Given the description of an element on the screen output the (x, y) to click on. 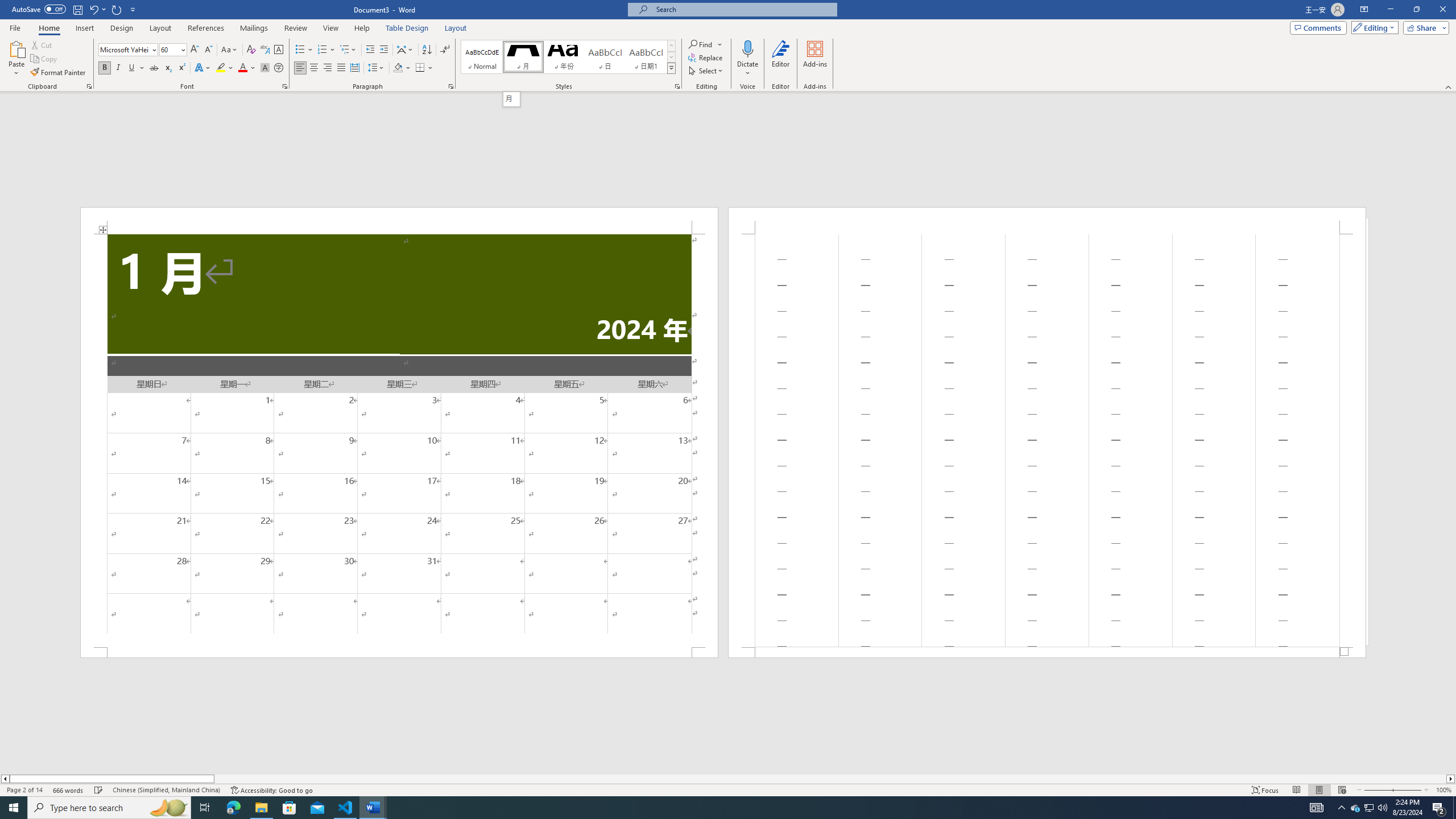
Page 2 content (1046, 440)
